Given the description of an element on the screen output the (x, y) to click on. 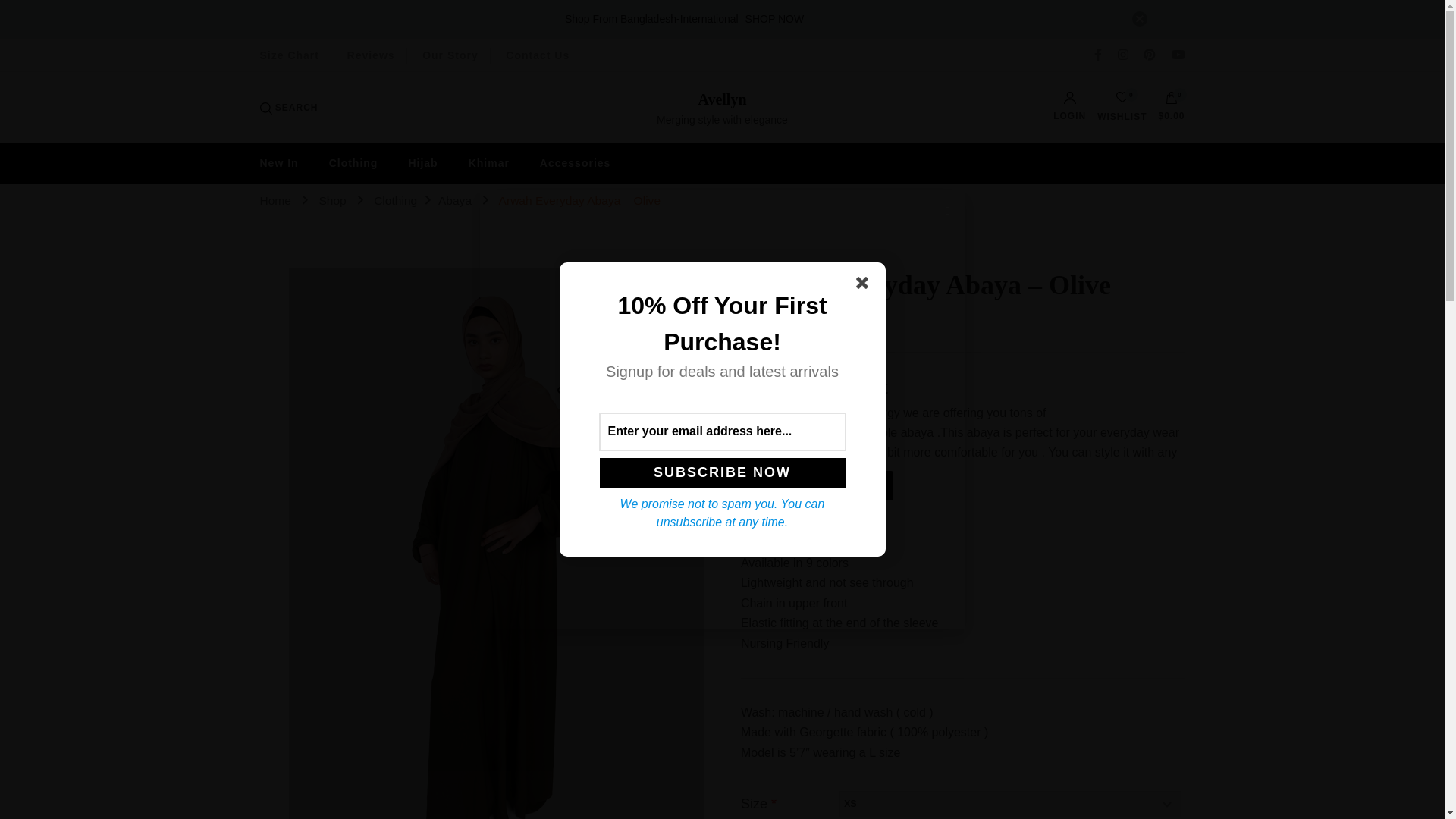
New In (286, 163)
Search (915, 417)
Subscribe Now (721, 472)
Khimar (488, 163)
Clothing (353, 163)
Reviews (370, 55)
Avellyn (721, 98)
Close optin form (864, 285)
Our Story (450, 55)
Size Chart (288, 55)
Contact Us (537, 55)
Accessories (575, 163)
LOGIN (1069, 105)
Hijab (422, 163)
SHOP NOW (775, 19)
